Given the description of an element on the screen output the (x, y) to click on. 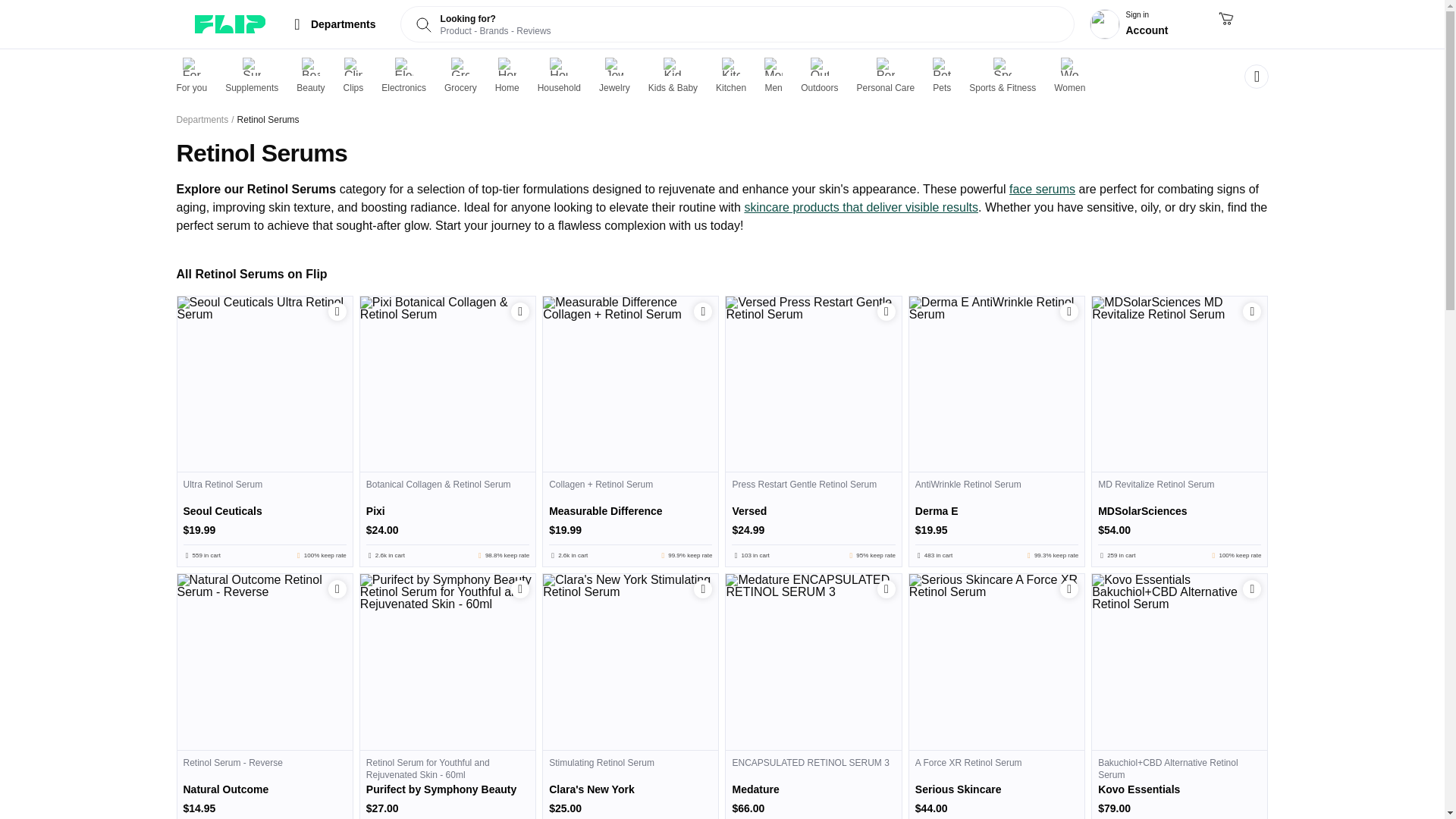
Derma E AntiWrinkle Retinol Serum (996, 383)
Departments (202, 119)
Add to Cart (337, 311)
Flip feed (228, 24)
AntiWrinkle Retinol Serum (996, 518)
Add to Cart (886, 311)
Electronics (403, 76)
Add to Cart (813, 518)
